Given the description of an element on the screen output the (x, y) to click on. 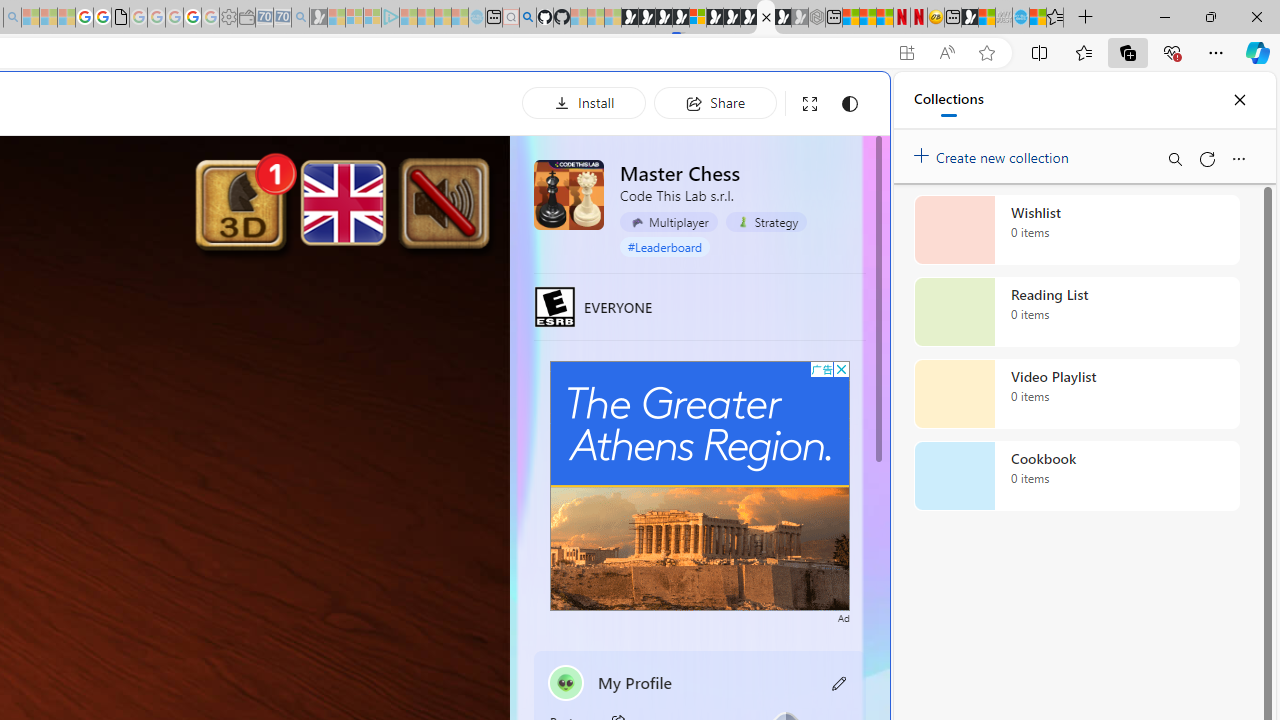
Cookbook collection, 0 items (1076, 475)
Close split screen (844, 102)
Change to dark mode (849, 103)
Strategy (765, 222)
Settings - Sleeping (228, 17)
